Given the description of an element on the screen output the (x, y) to click on. 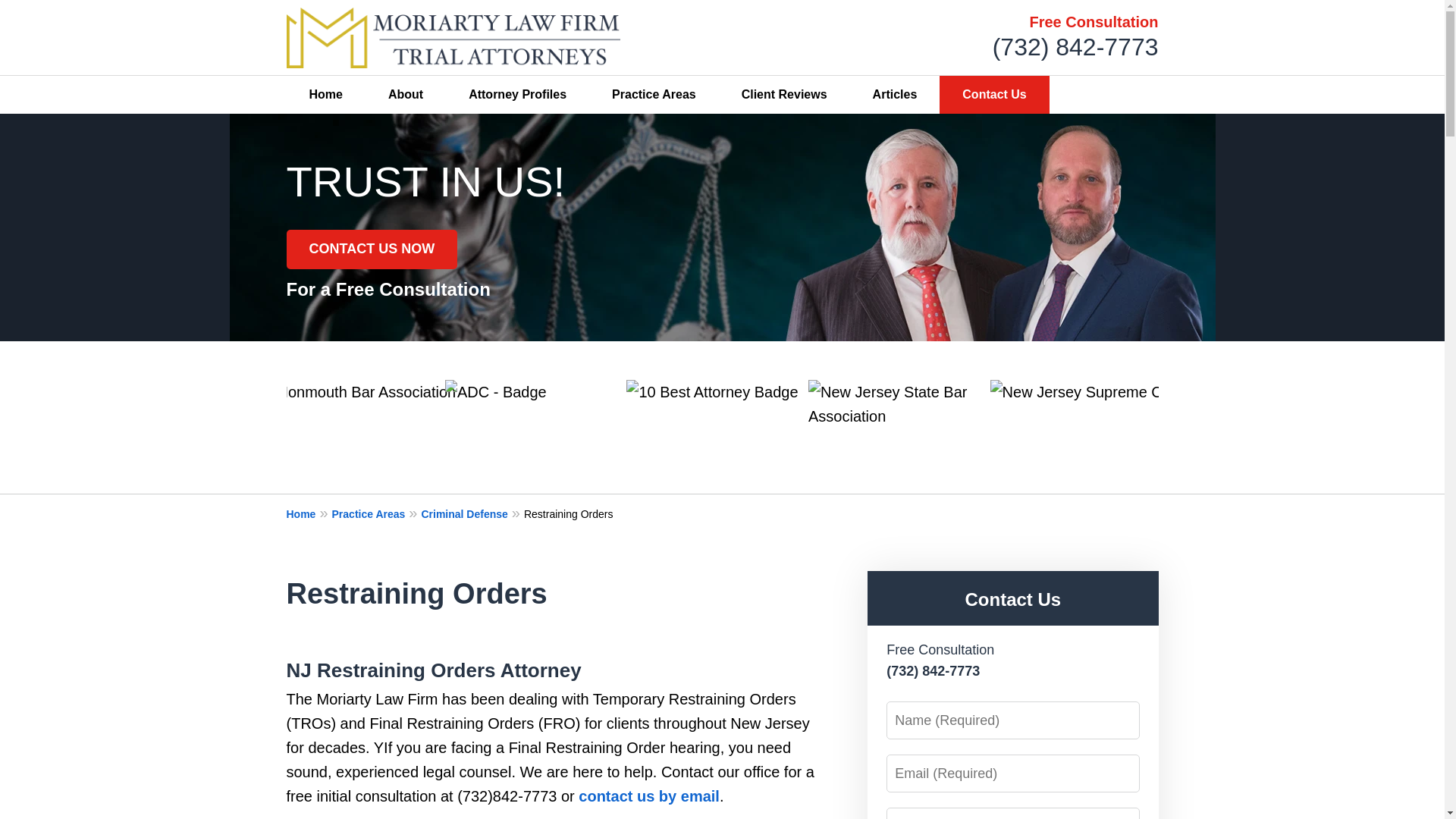
contact us by email (648, 795)
Articles (895, 94)
Client Reviews (784, 94)
Home (308, 513)
Contact Us (993, 94)
About (405, 94)
Practice Areas (376, 513)
Attorney Profiles (517, 94)
CONTACT US NOW (372, 249)
Criminal Defense (472, 513)
